Given the description of an element on the screen output the (x, y) to click on. 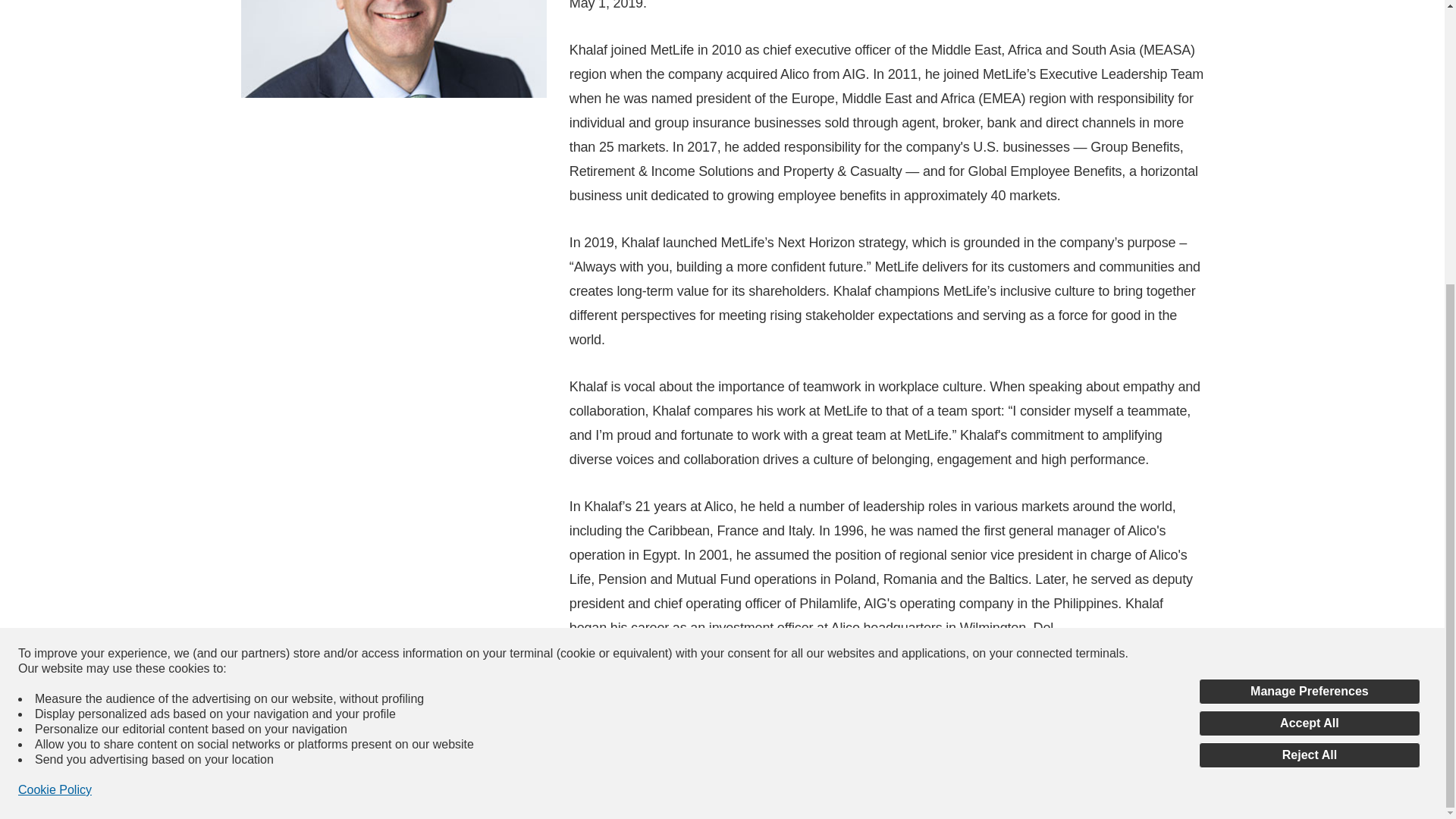
U.S.-China Business Council (962, 674)
Manage Preferences (1309, 264)
Cookie Policy (54, 363)
Reject All (1309, 328)
Accept All (1309, 296)
Geneva Association (1136, 674)
Partnership for New York City. (705, 698)
